Given the description of an element on the screen output the (x, y) to click on. 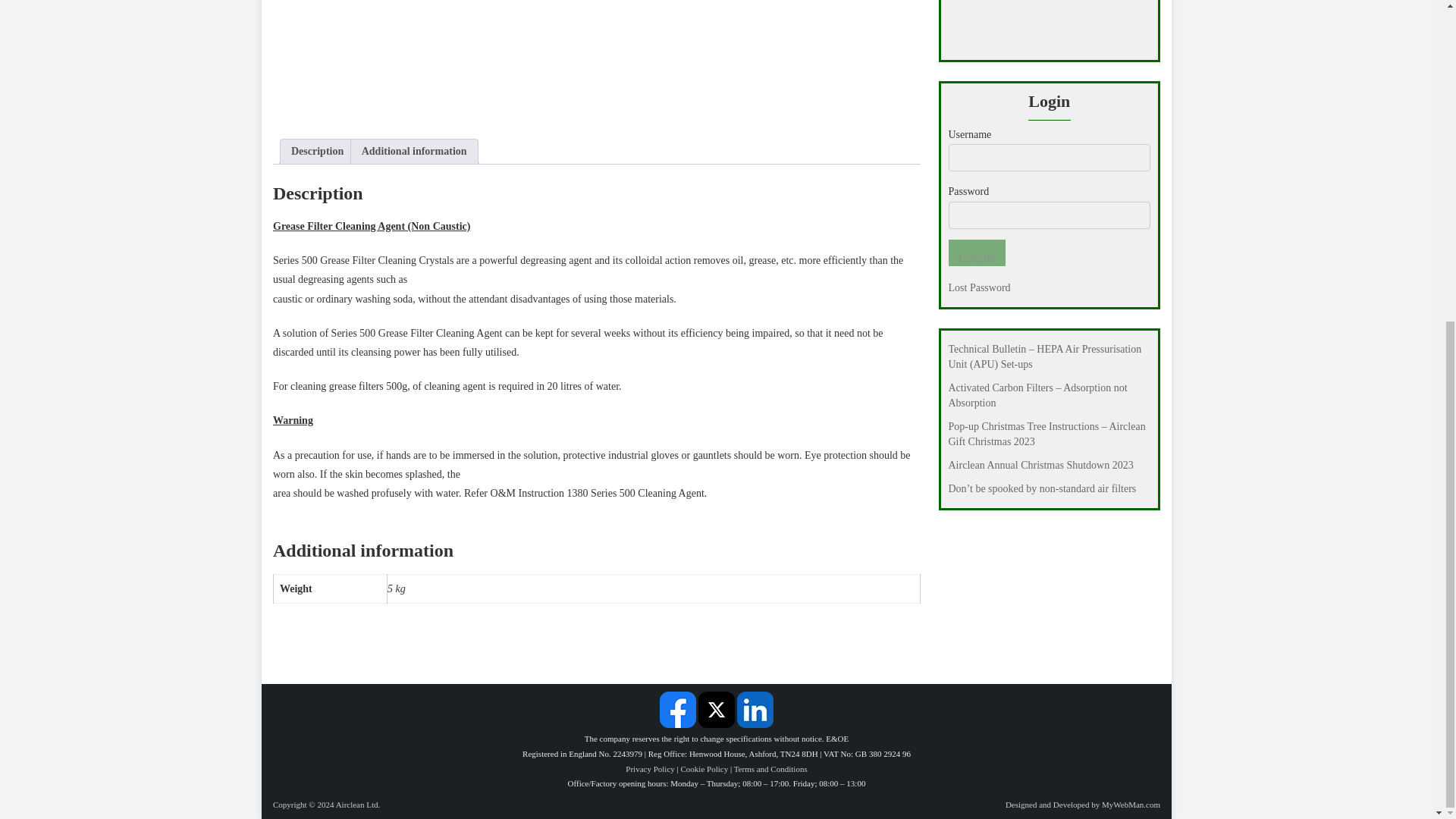
Log In (975, 252)
